Given the description of an element on the screen output the (x, y) to click on. 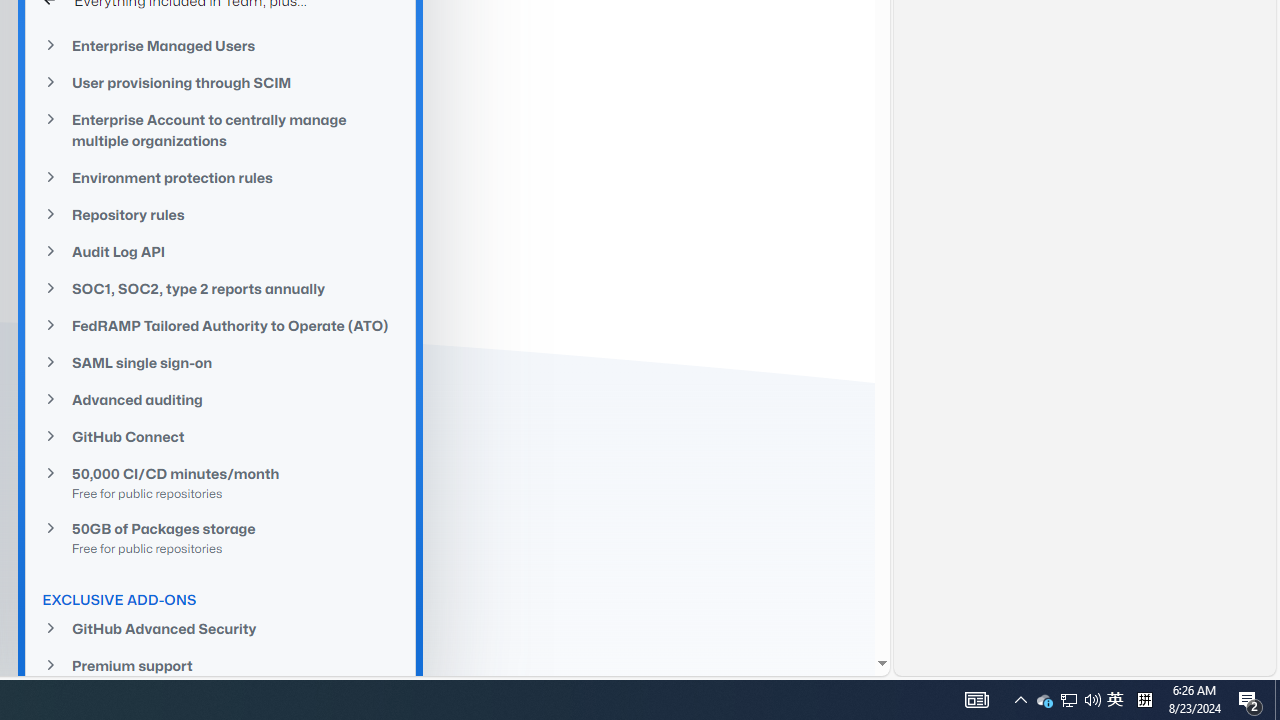
Premium support (220, 664)
GitHub Advanced Security (220, 628)
Enterprise Managed Users (220, 45)
50,000 CI/CD minutes/month Free for public repositories (220, 483)
GitHub Connect (220, 436)
50GB of Packages storageFree for public repositories (220, 537)
Advanced auditing (220, 399)
GitHub Connect (220, 435)
Repository rules (220, 214)
Audit Log API (220, 250)
Audit Log API (220, 251)
Premium support (220, 665)
GitHub Advanced Security (220, 628)
SAML single sign-on (220, 362)
